Given the description of an element on the screen output the (x, y) to click on. 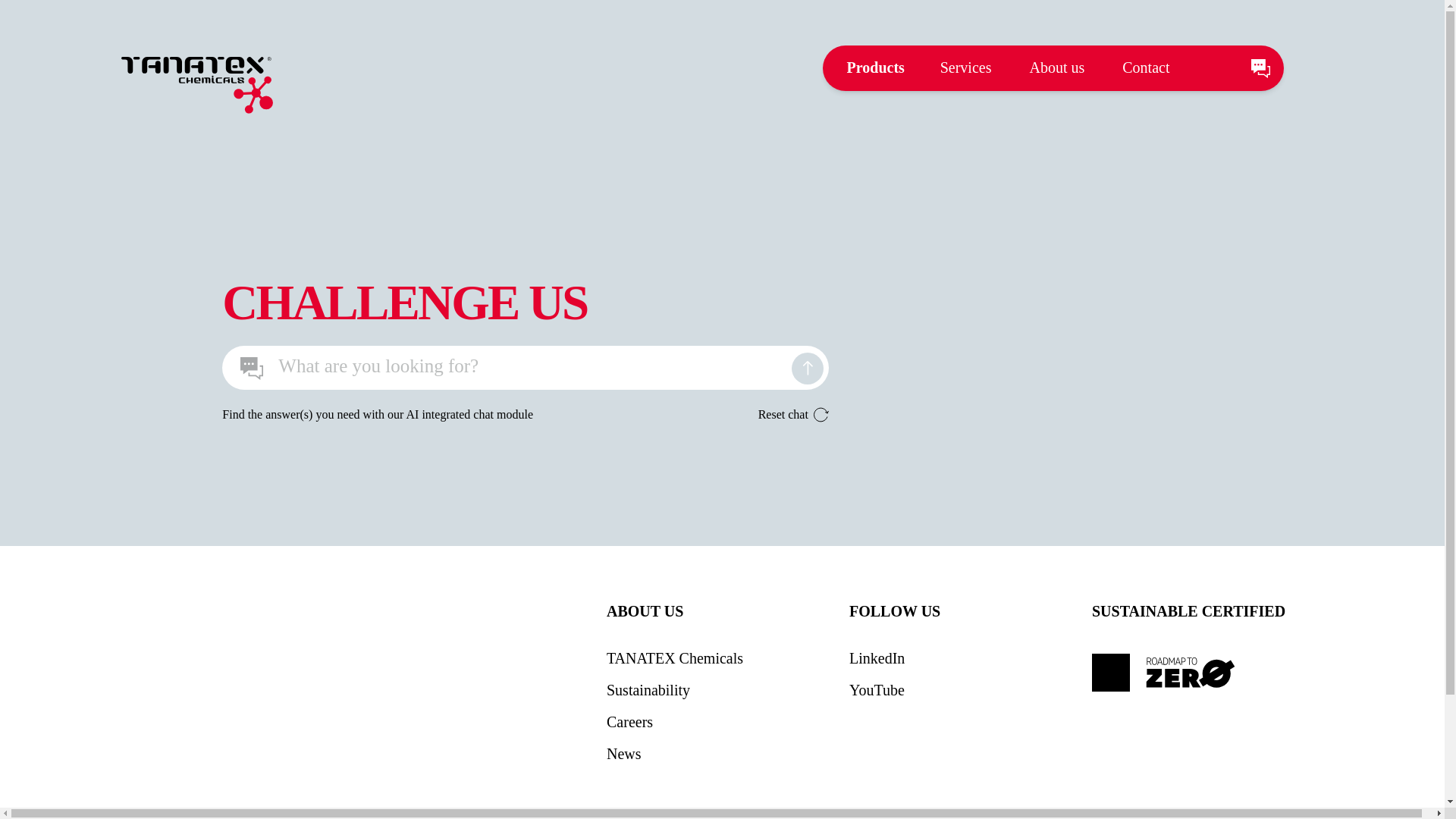
Products (875, 66)
Contact (1145, 66)
Services (965, 66)
About us (1056, 66)
Products (875, 66)
Services (965, 66)
